Given the description of an element on the screen output the (x, y) to click on. 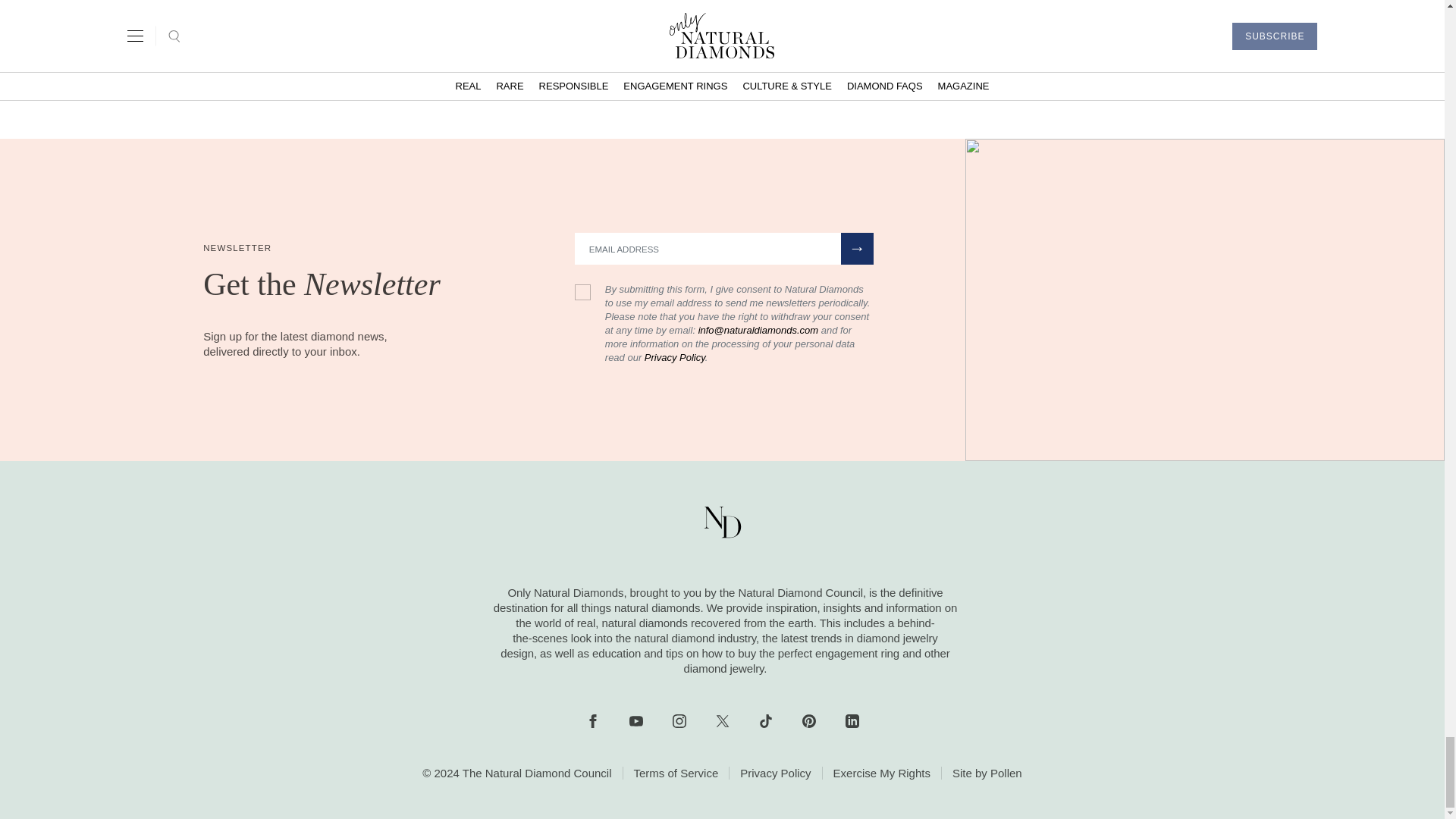
Clipboard (747, 72)
Share on Facebook (644, 72)
Email this page (798, 72)
Tweet This (696, 72)
